Given the description of an element on the screen output the (x, y) to click on. 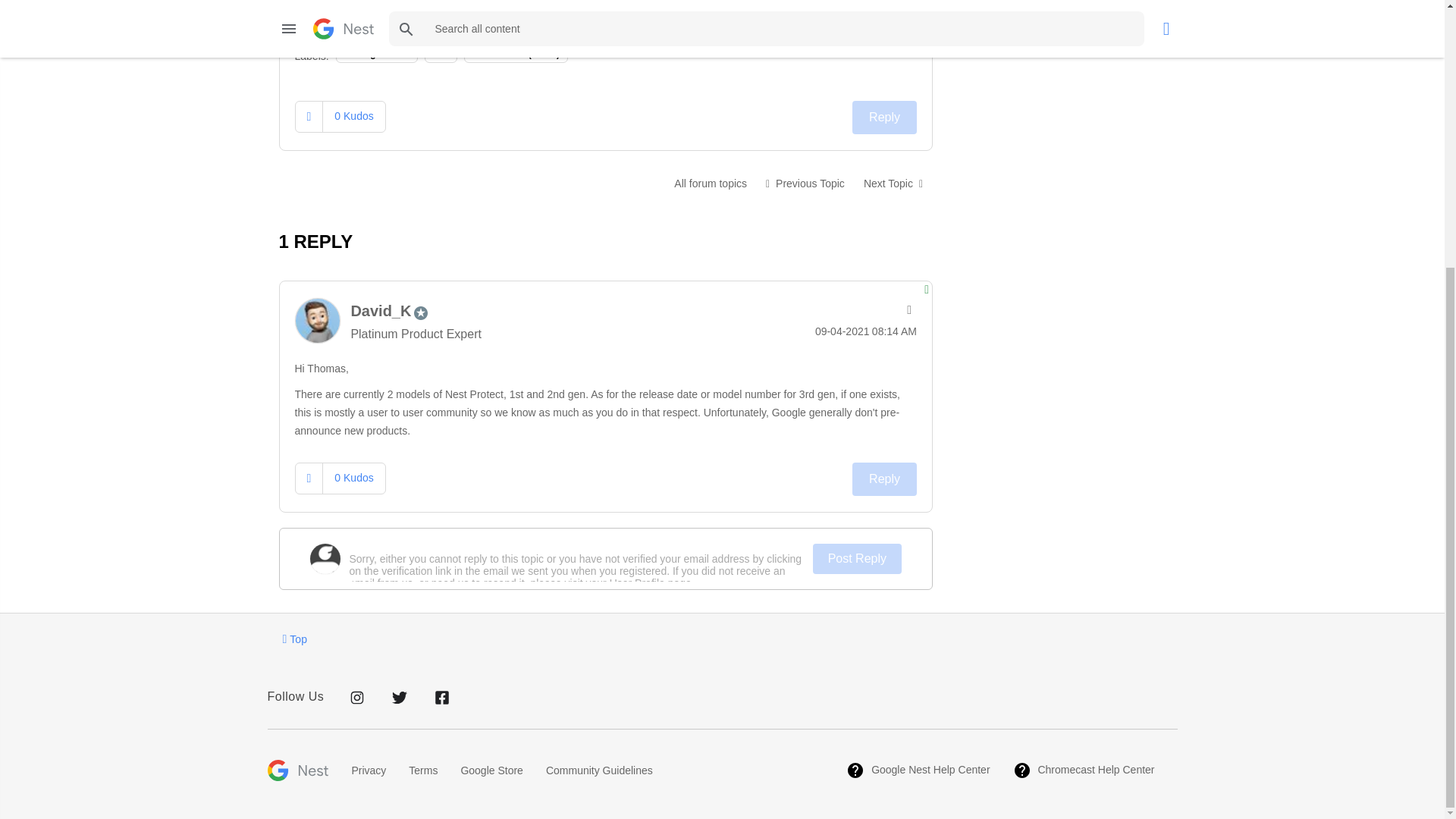
The total number of kudos this post has received. (353, 477)
The total number of kudos this post has received. (353, 115)
Nest Protect (710, 183)
Platinum Product Expert (420, 313)
Click here to give kudos to this post. (309, 116)
Getting Started (377, 53)
Top (293, 638)
Recycling Nest Protect in Canada (893, 183)
Top (293, 638)
